Given the description of an element on the screen output the (x, y) to click on. 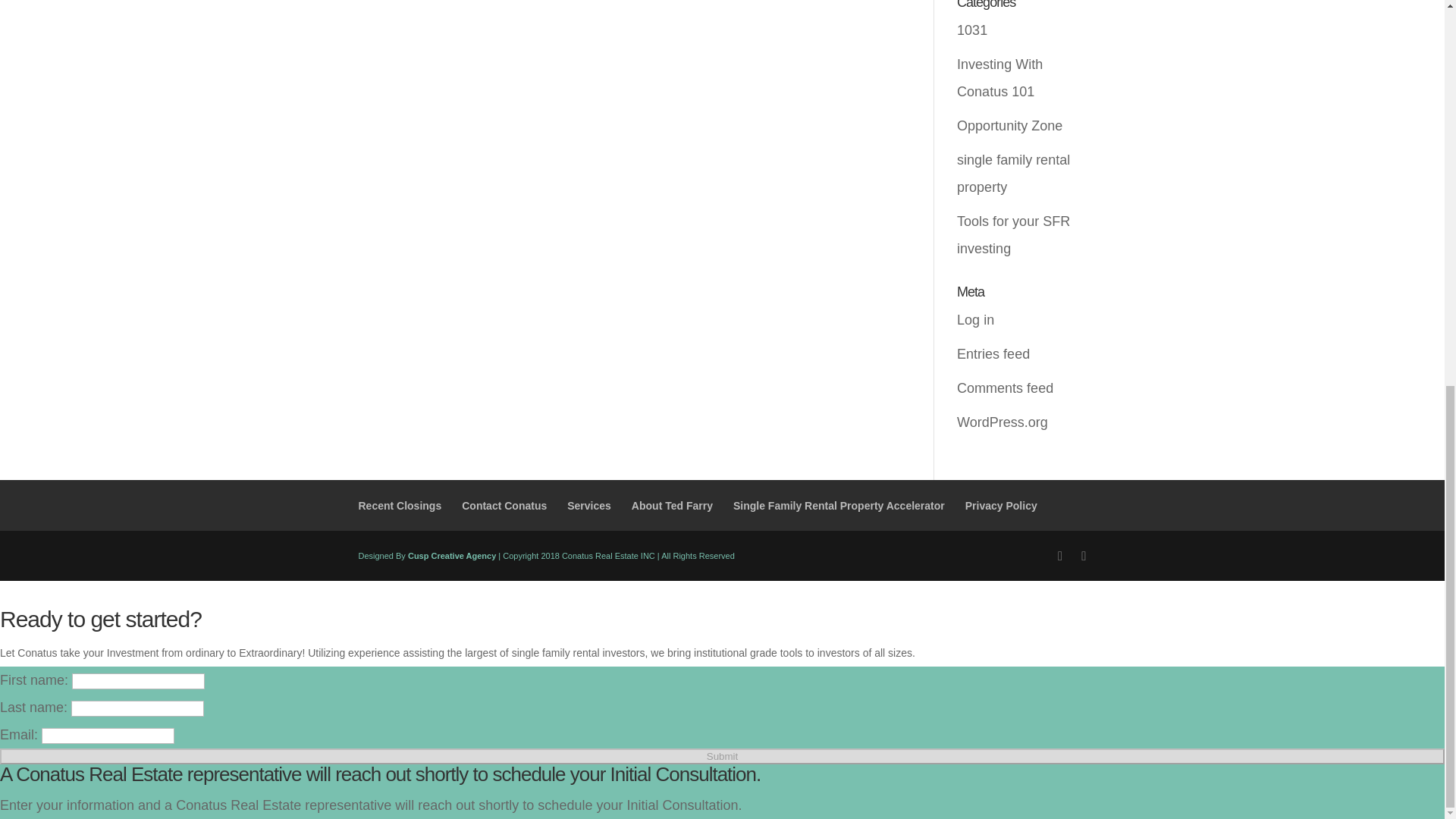
1031 (971, 29)
Single Family Rental Property Accelerator (838, 505)
Entries feed (992, 353)
WordPress.org (1002, 421)
Tools for your SFR investing (1013, 234)
Comments feed (1004, 387)
Investing With Conatus 101 (999, 77)
Opportunity Zone (1009, 125)
Services (589, 505)
Log in (975, 319)
Recent Closings (399, 505)
Contact Conatus (504, 505)
About Ted Farry (672, 505)
single family rental property (1013, 173)
